Given the description of an element on the screen output the (x, y) to click on. 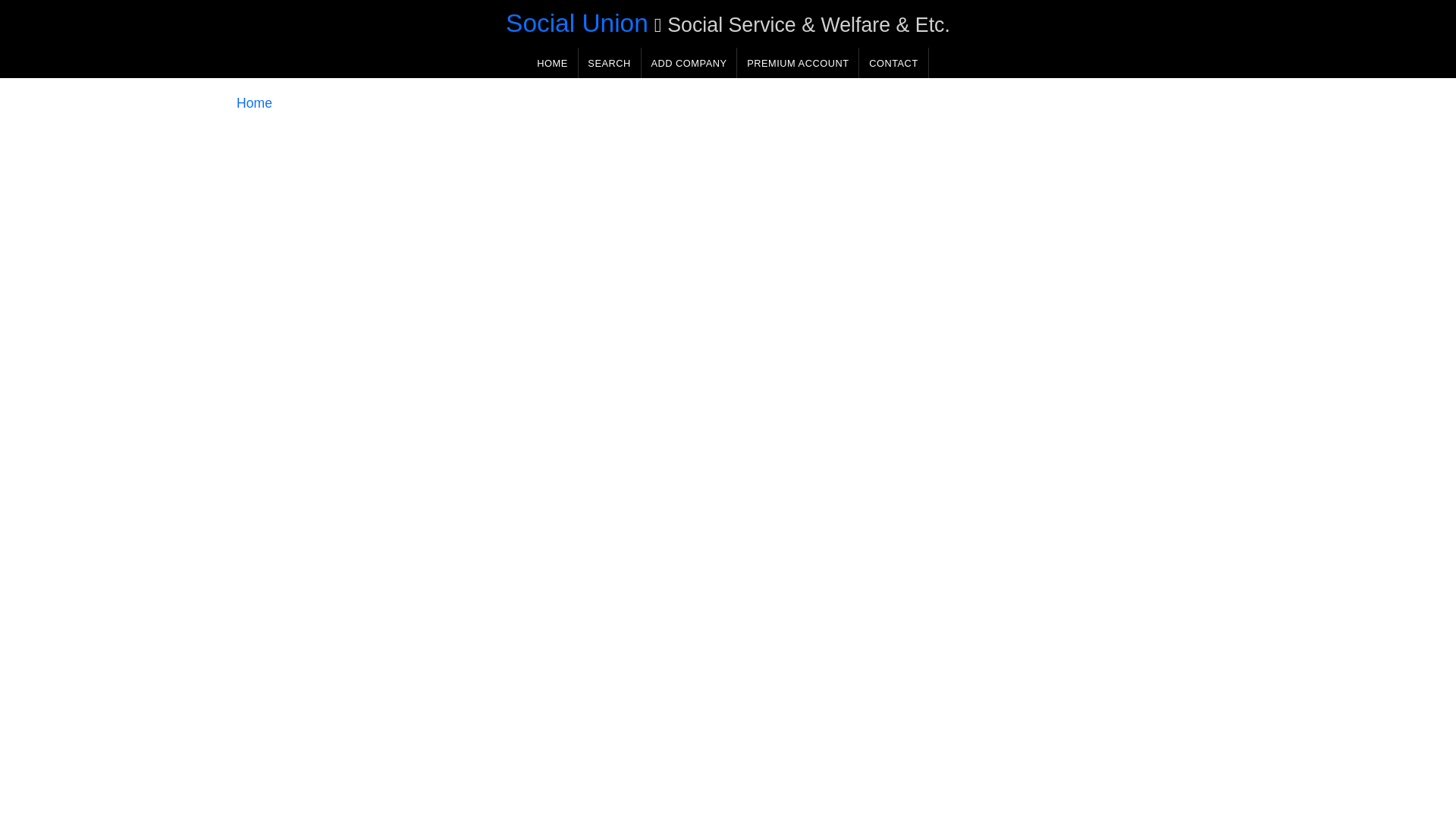
CONTACT (893, 62)
Premium account (797, 62)
SEARCH (609, 62)
Social Union (576, 22)
Home (253, 102)
HOME (551, 62)
ADD COMPANY (689, 62)
PREMIUM ACCOUNT (797, 62)
Add a new company (689, 62)
Search in this webseite. (609, 62)
